Given the description of an element on the screen output the (x, y) to click on. 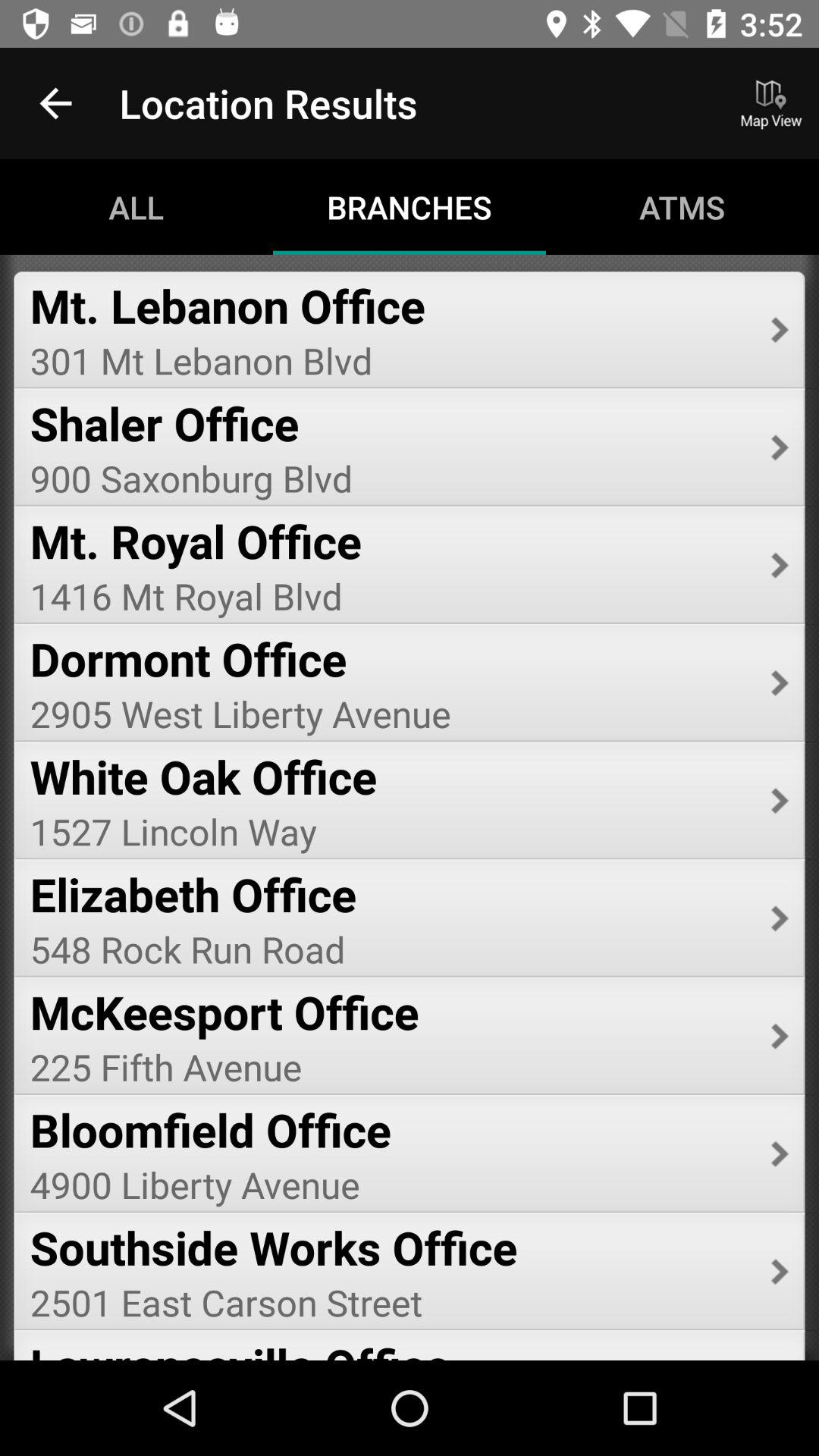
press 900 saxonburg blvd icon (390, 477)
